Given the description of an element on the screen output the (x, y) to click on. 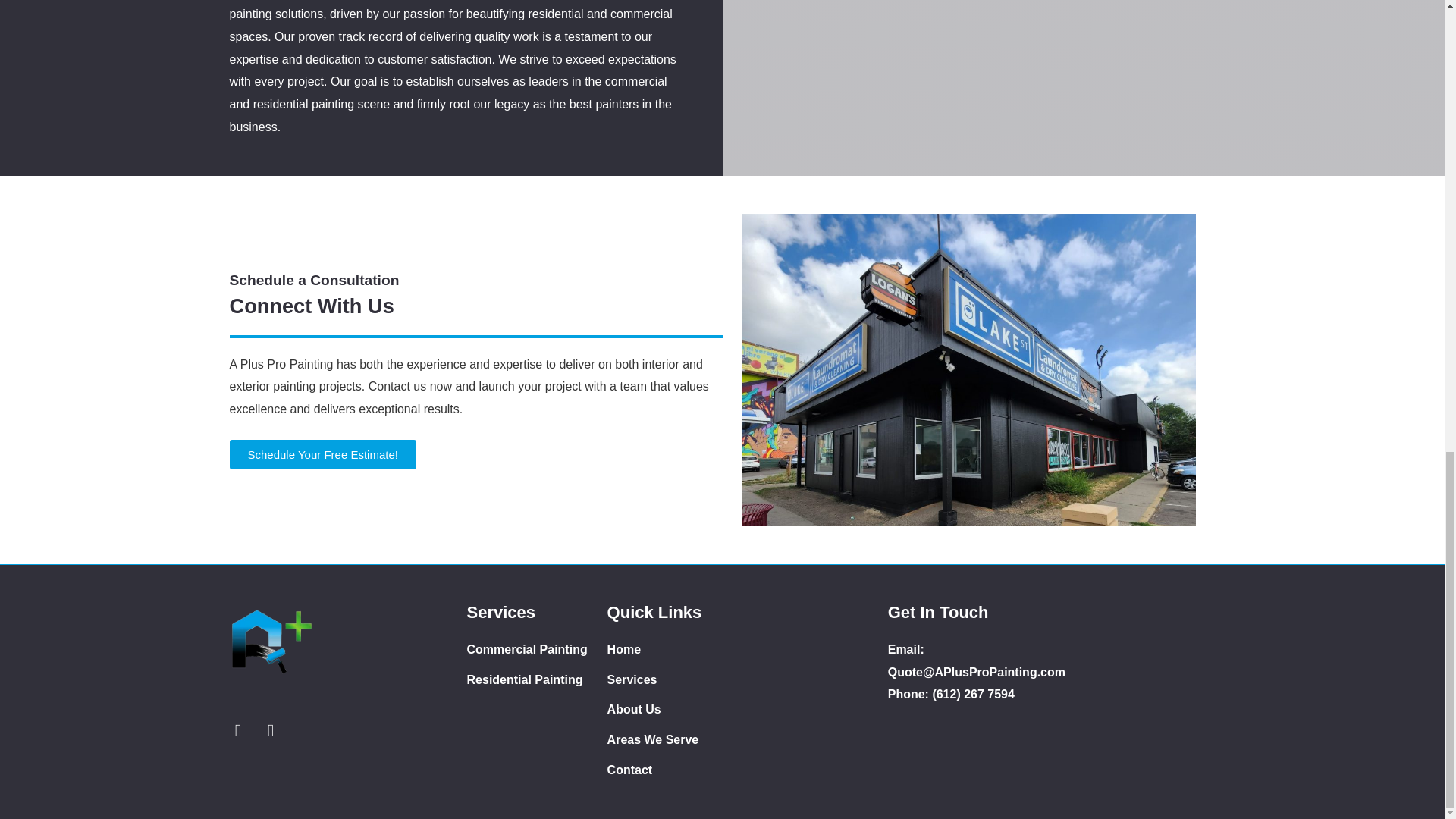
Residential Painting (537, 679)
Areas We Serve (677, 739)
Contact (677, 770)
Instagram (237, 730)
Commercial Painting (537, 649)
Home (677, 649)
About Us (677, 709)
Services (677, 679)
Facebook (270, 730)
Schedule Your Free Estimate! (321, 454)
